Given the description of an element on the screen output the (x, y) to click on. 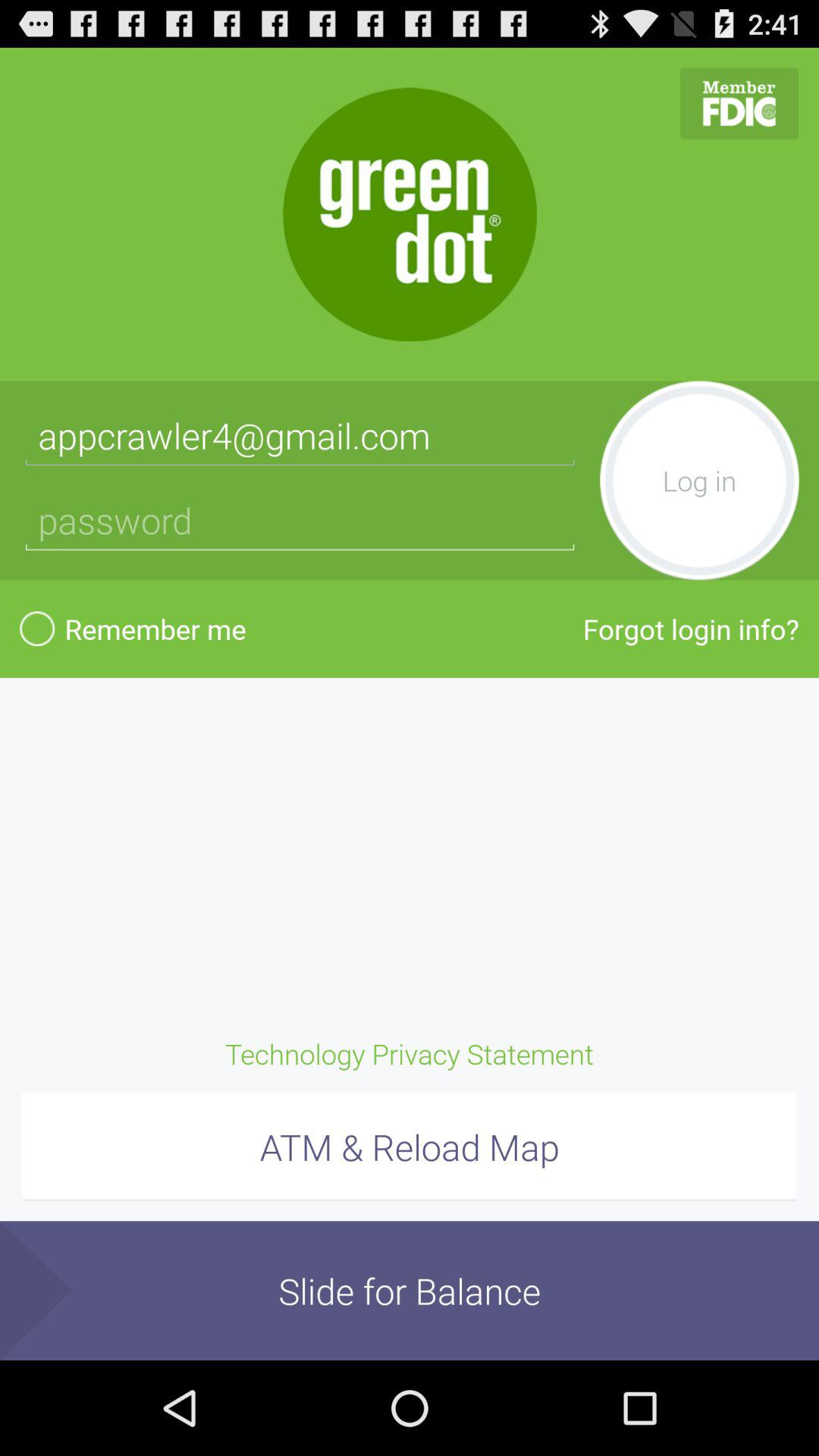
enter password (299, 520)
